Given the description of an element on the screen output the (x, y) to click on. 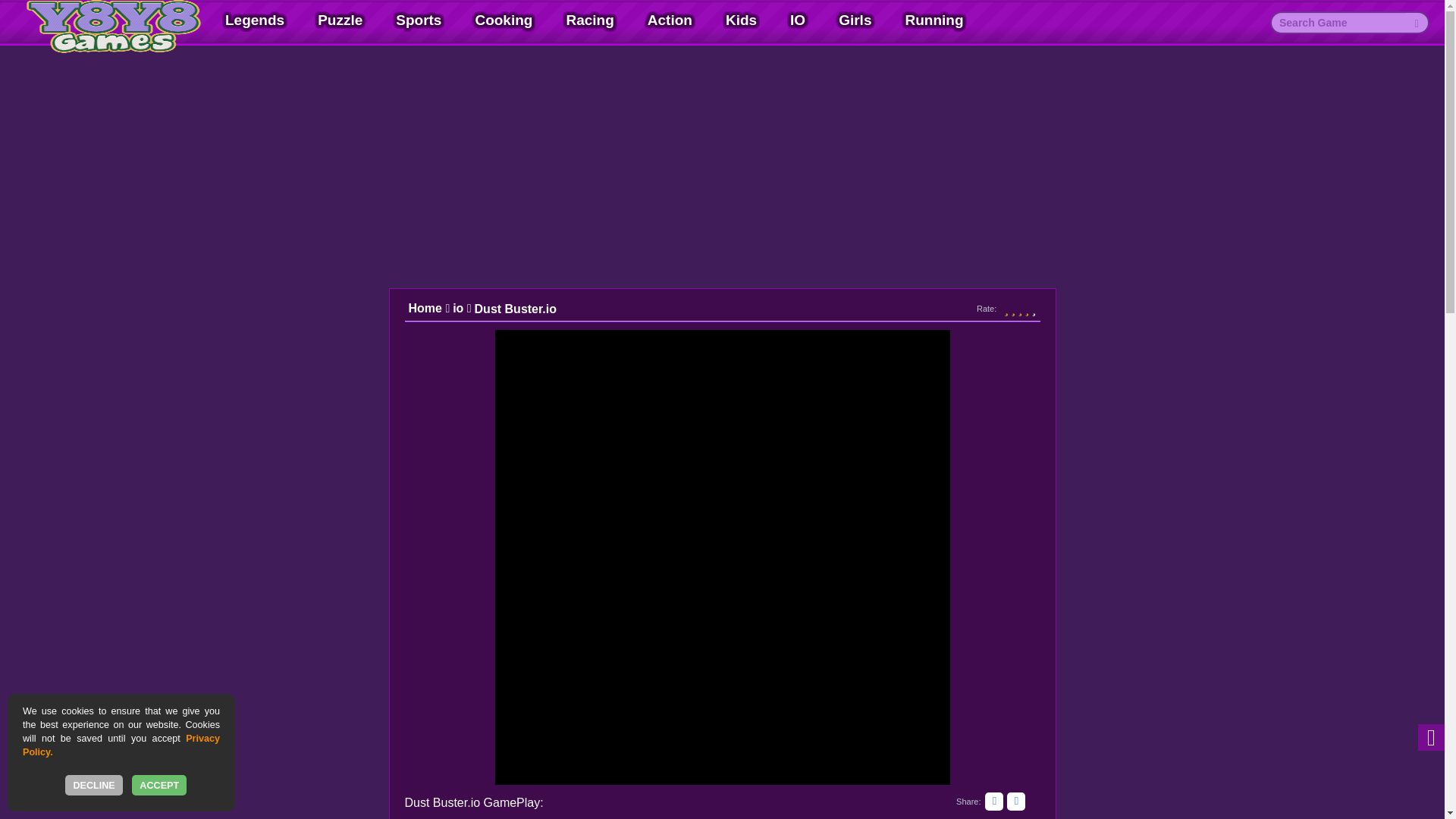
Puzzle (339, 20)
io (461, 308)
Kids (741, 20)
Running (933, 20)
Girls (854, 20)
Sports (418, 20)
Racing (589, 20)
Legends (254, 20)
Legends (254, 20)
IO (797, 20)
Cooking (502, 20)
Home (428, 308)
Sports (418, 20)
Girls (854, 20)
Action (669, 20)
